Given the description of an element on the screen output the (x, y) to click on. 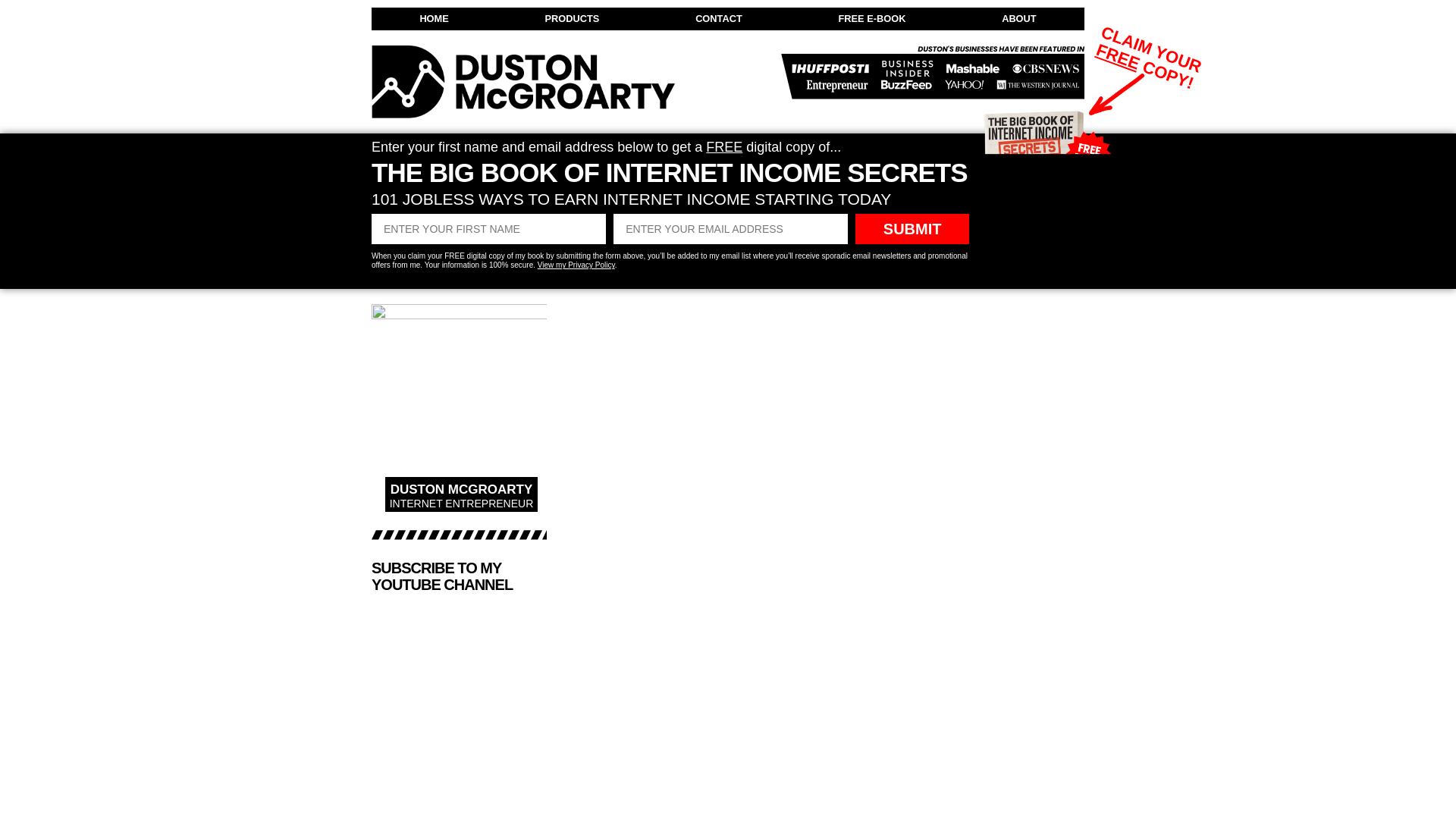
View my Privacy Policy (575, 265)
CONTACT (718, 18)
HOME (433, 18)
ABOUT (1018, 18)
FREE E-BOOK (871, 18)
SUBMIT (912, 228)
PRODUCTS (571, 18)
